Given the description of an element on the screen output the (x, y) to click on. 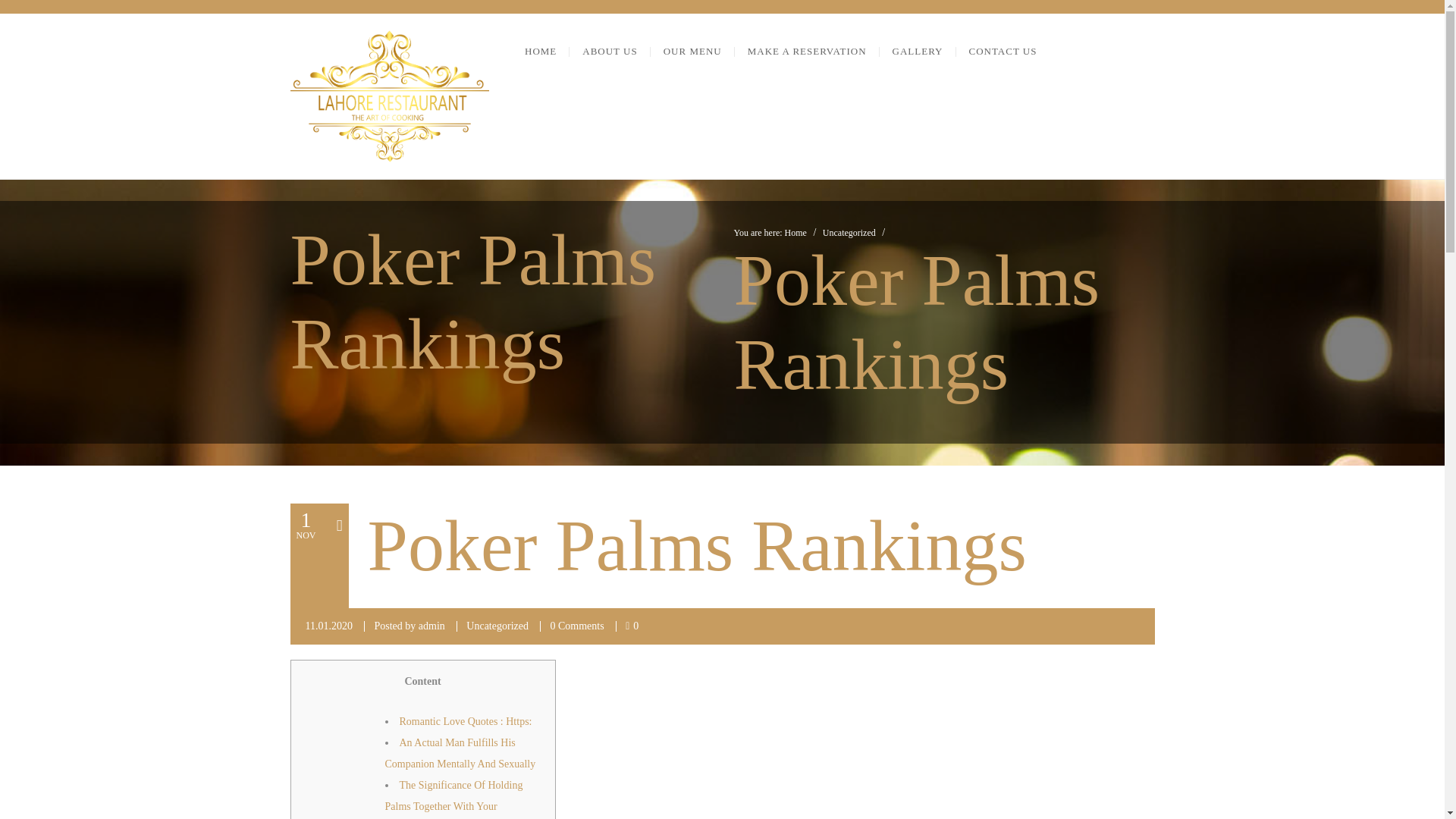
View all posts date 11.01.2020 (328, 625)
MAKE A RESERVATION (807, 51)
Posts by admin (432, 625)
11.01.2020 (328, 625)
You are here: Home (771, 232)
View all Comments (577, 625)
CONTACT US (1002, 51)
Love this (632, 625)
OUR MENU (692, 51)
ABOUT US (609, 51)
